Given the description of an element on the screen output the (x, y) to click on. 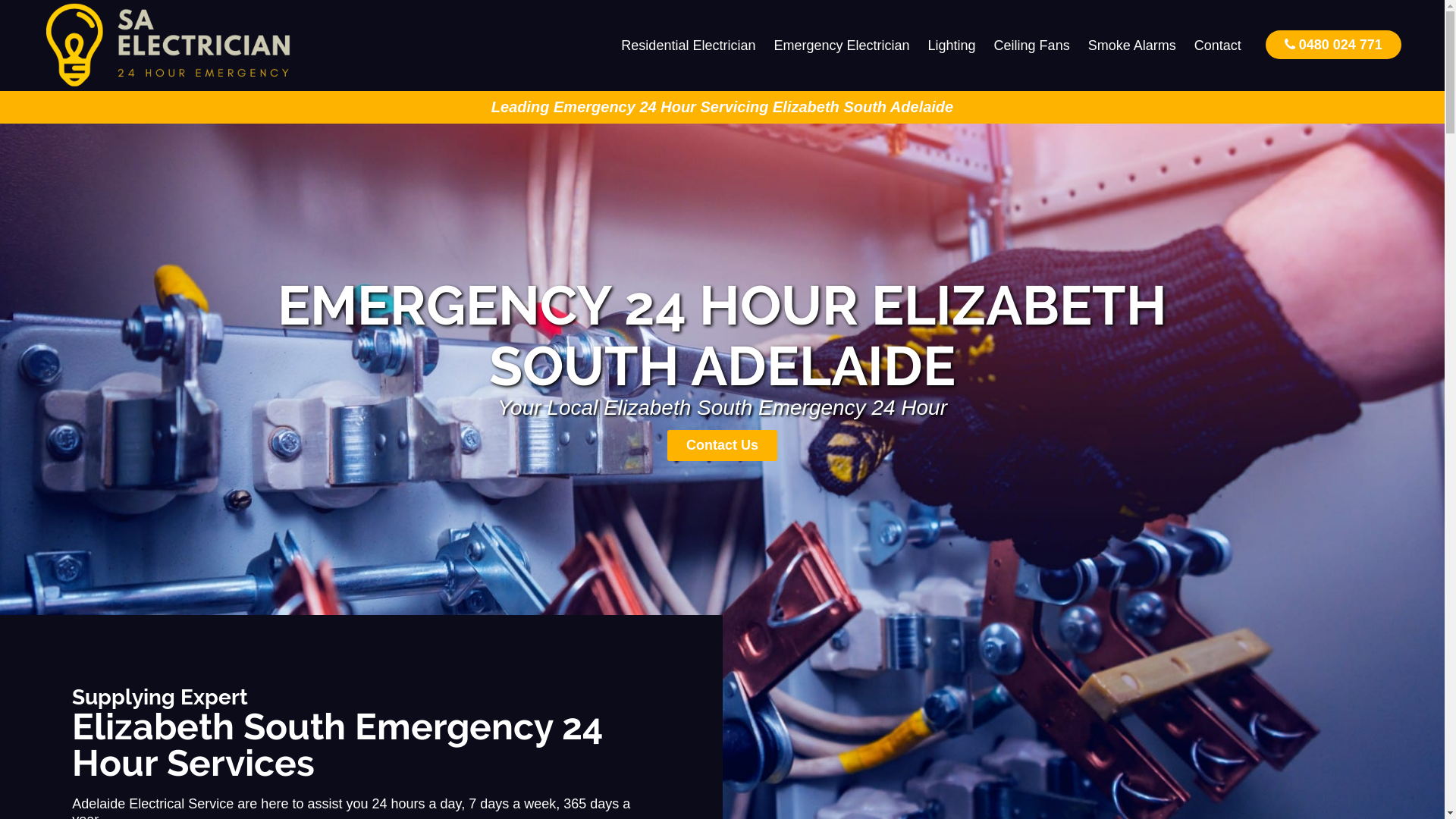
Lighting Element type: text (952, 45)
Emergency Electrician Element type: text (841, 45)
Contact Element type: text (1217, 45)
Residential Electrician Element type: text (687, 45)
Contact Us Element type: text (722, 445)
Smoke Alarms Element type: text (1132, 45)
Ceiling Fans Element type: text (1032, 45)
0480 024 771 Element type: text (1333, 44)
